Given the description of an element on the screen output the (x, y) to click on. 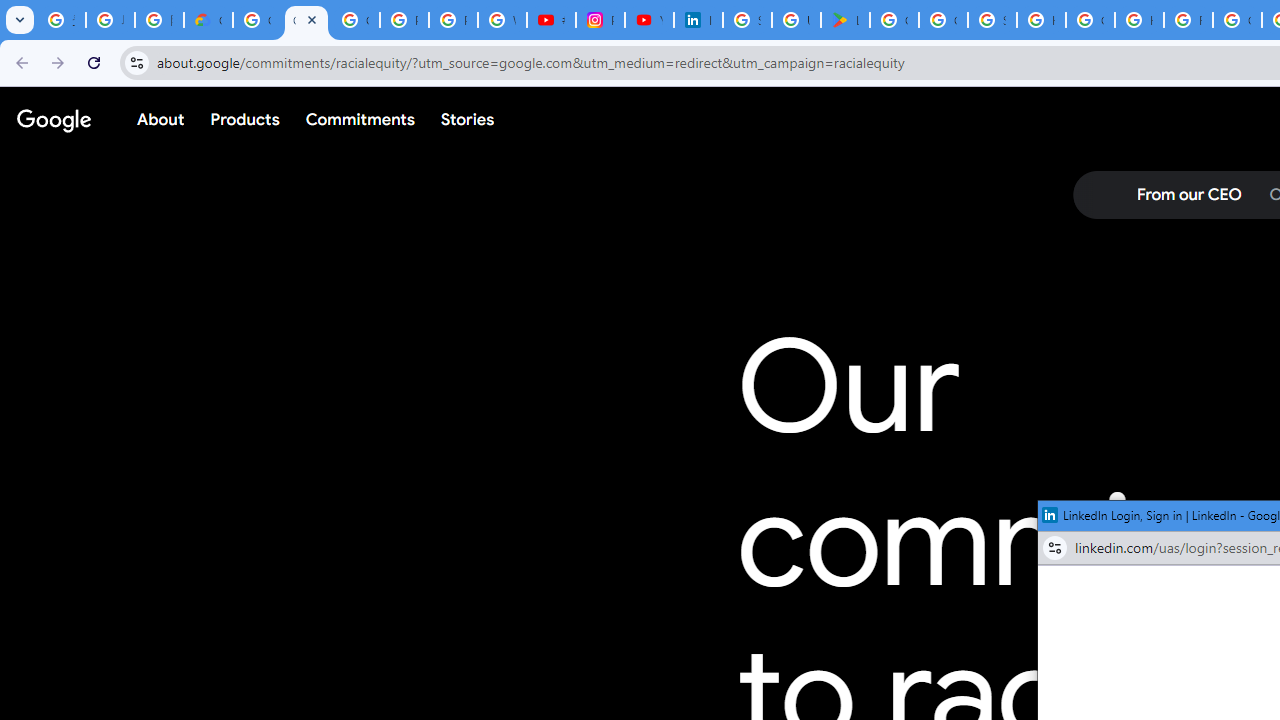
#nbabasketballhighlights - YouTube (551, 20)
Google Workspace - Specific Terms (943, 20)
